Given the description of an element on the screen output the (x, y) to click on. 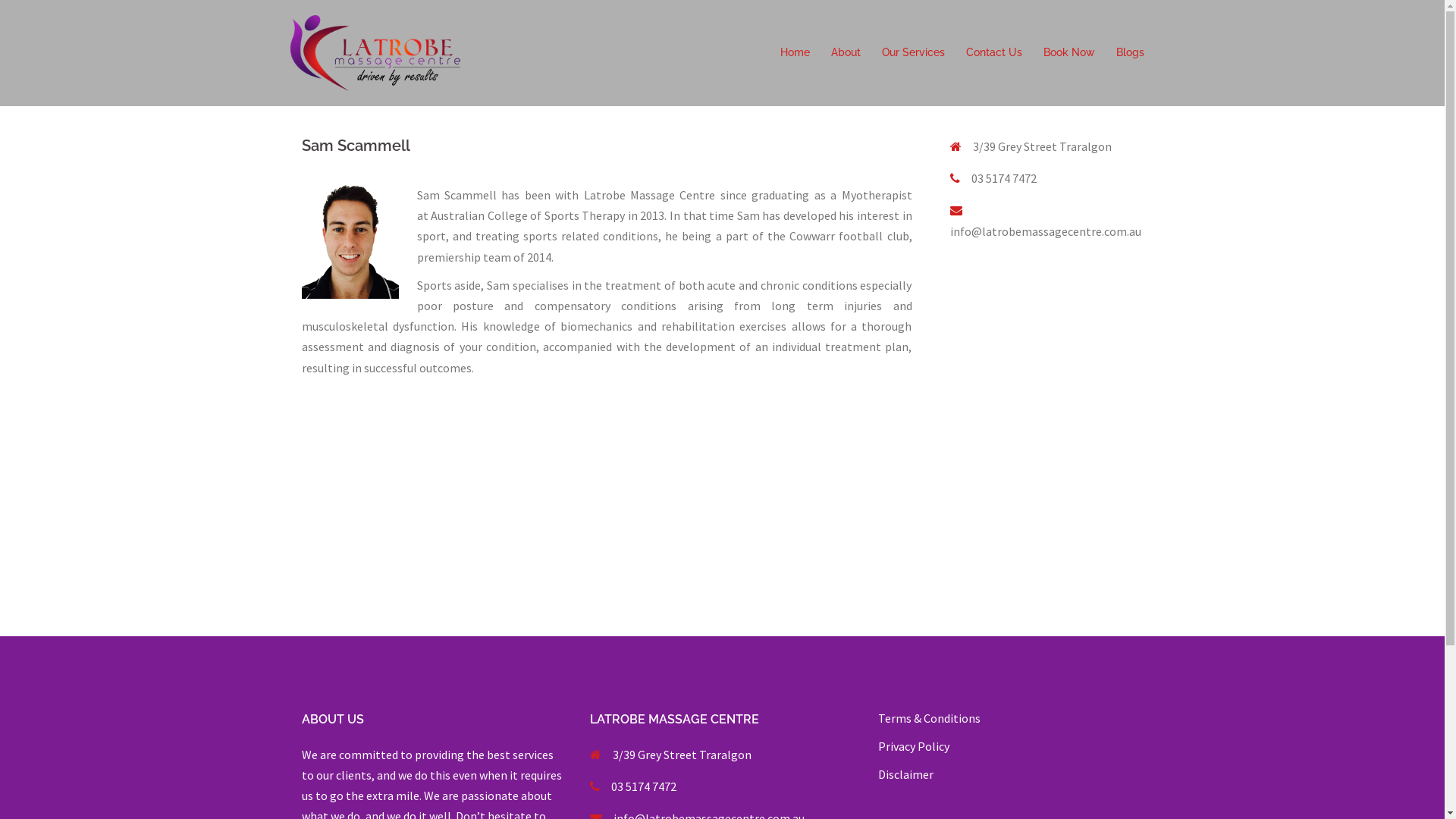
Sam Scammell - Latrobe Massage Centre Element type: hover (349, 241)
Terms & Conditions Element type: text (929, 717)
Contact Us Element type: text (994, 52)
About Element type: text (845, 52)
Home Element type: text (794, 52)
Blogs Element type: text (1130, 52)
Our Services Element type: text (912, 52)
Latrobe Massage Centre Element type: hover (374, 51)
Book Now Element type: text (1069, 52)
info@latrobemassagecentre.com.au Element type: text (1044, 230)
Disclaimer Element type: text (905, 773)
Privacy Policy Element type: text (913, 745)
